Given the description of an element on the screen output the (x, y) to click on. 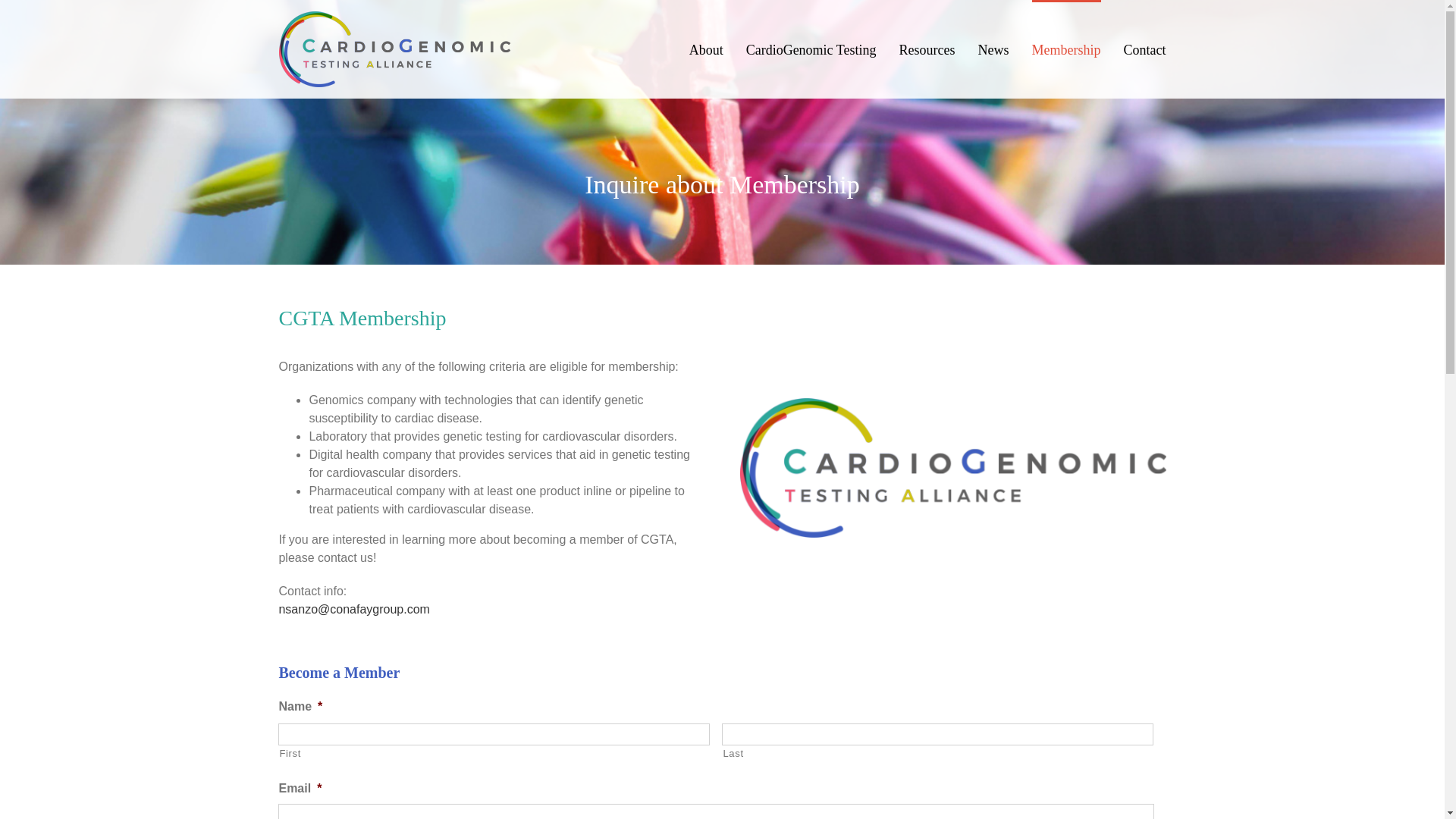
CardioGenomic Testing (810, 48)
